Given the description of an element on the screen output the (x, y) to click on. 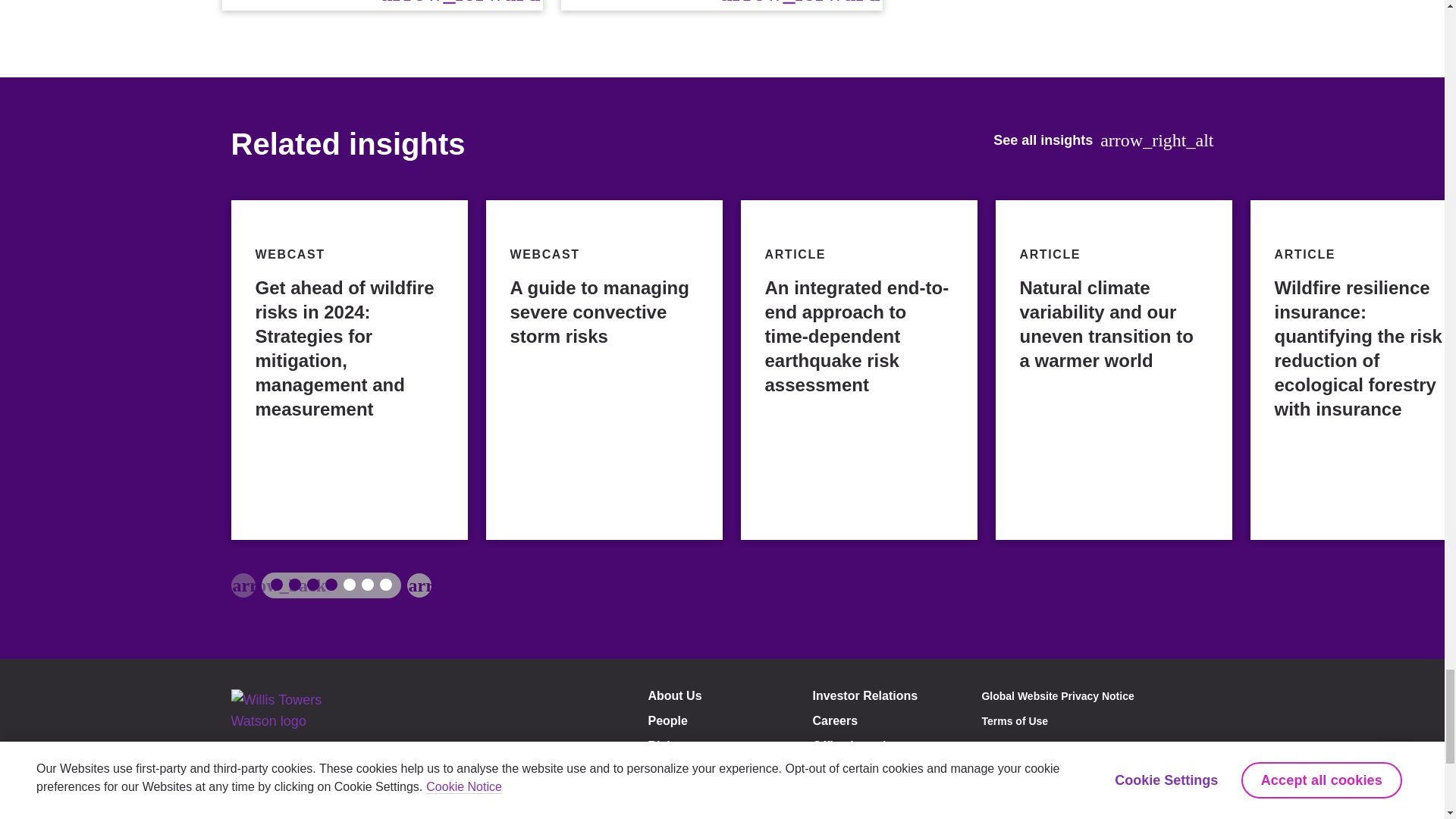
Marine (721, 5)
Insurance Consulting and Technology (382, 5)
